Given the description of an element on the screen output the (x, y) to click on. 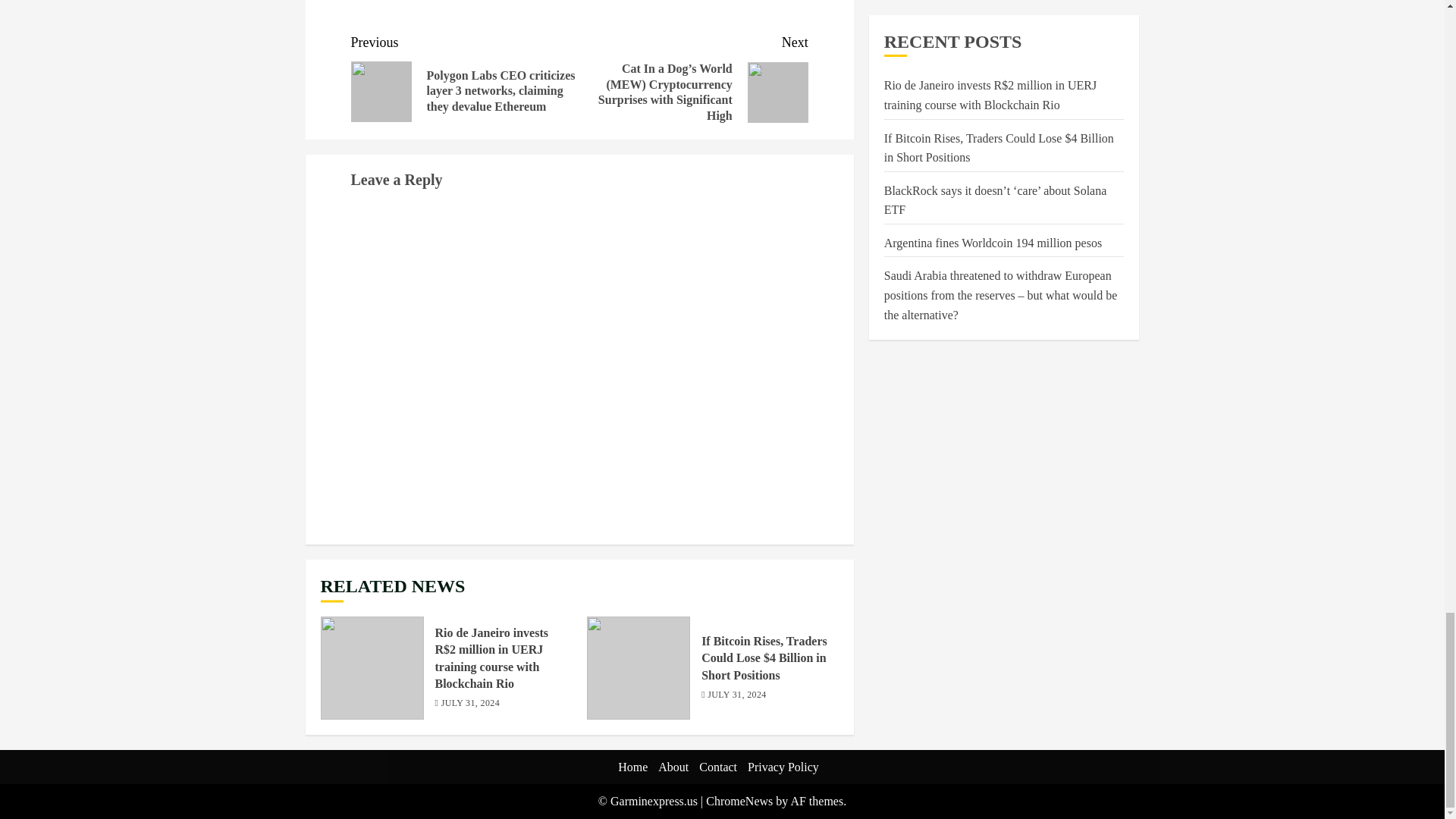
Home (632, 766)
AUGUST 3, 2024 (476, 703)
ChromeNews (739, 800)
AUGUST 2, 2024 (742, 703)
Privacy Policy (783, 766)
About (673, 766)
Contact (717, 766)
